Given the description of an element on the screen output the (x, y) to click on. 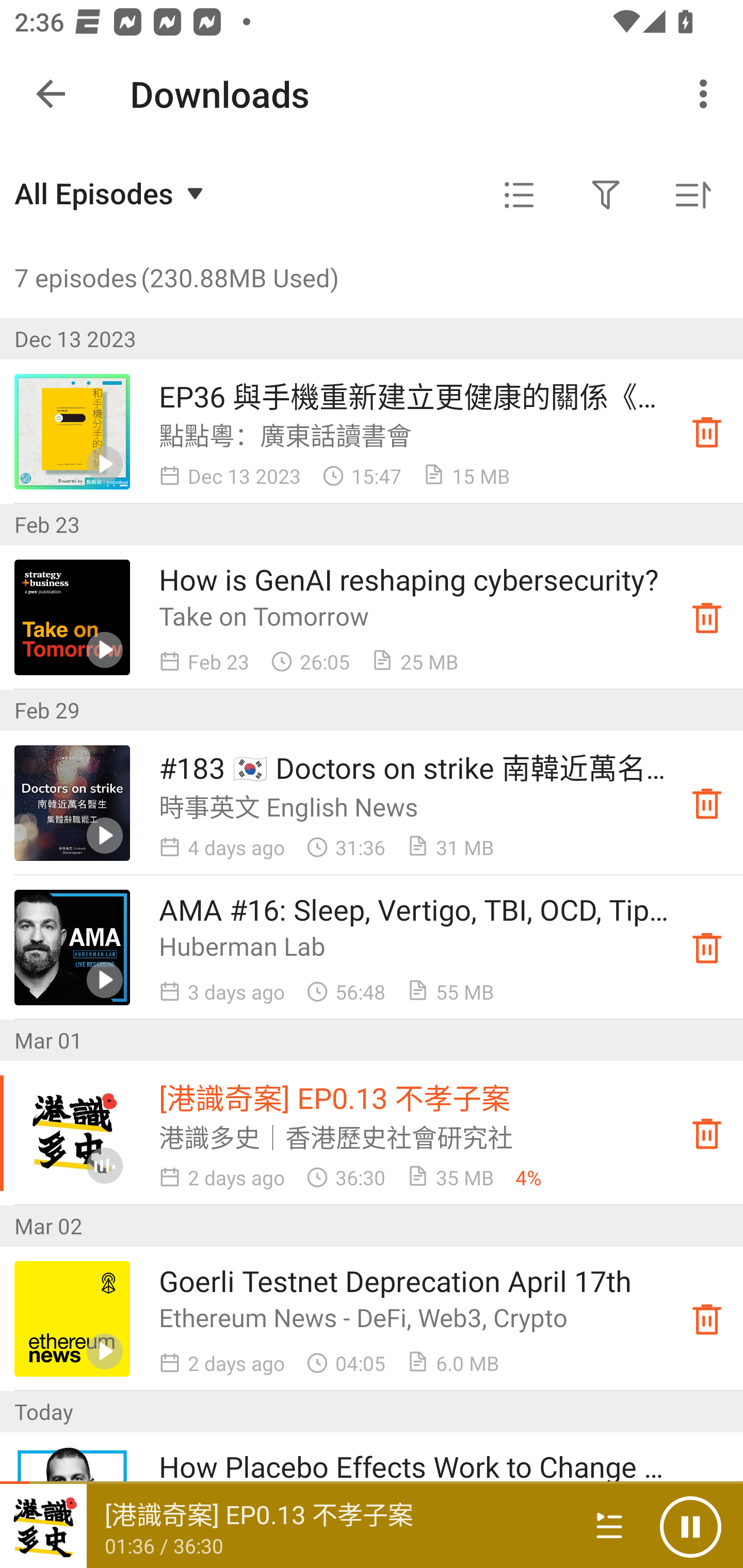
Navigate up (50, 93)
More options (706, 93)
All Episodes (111, 192)
 (518, 195)
 (605, 195)
 Sorted by oldest first (692, 195)
Downloaded (706, 431)
Downloaded (706, 617)
Downloaded (706, 802)
Downloaded (706, 947)
Downloaded (706, 1133)
Downloaded (706, 1318)
[港識奇案] EP0.13 不孝子案 01:36 / 36:30 (283, 1525)
Pause (690, 1526)
